Given the description of an element on the screen output the (x, y) to click on. 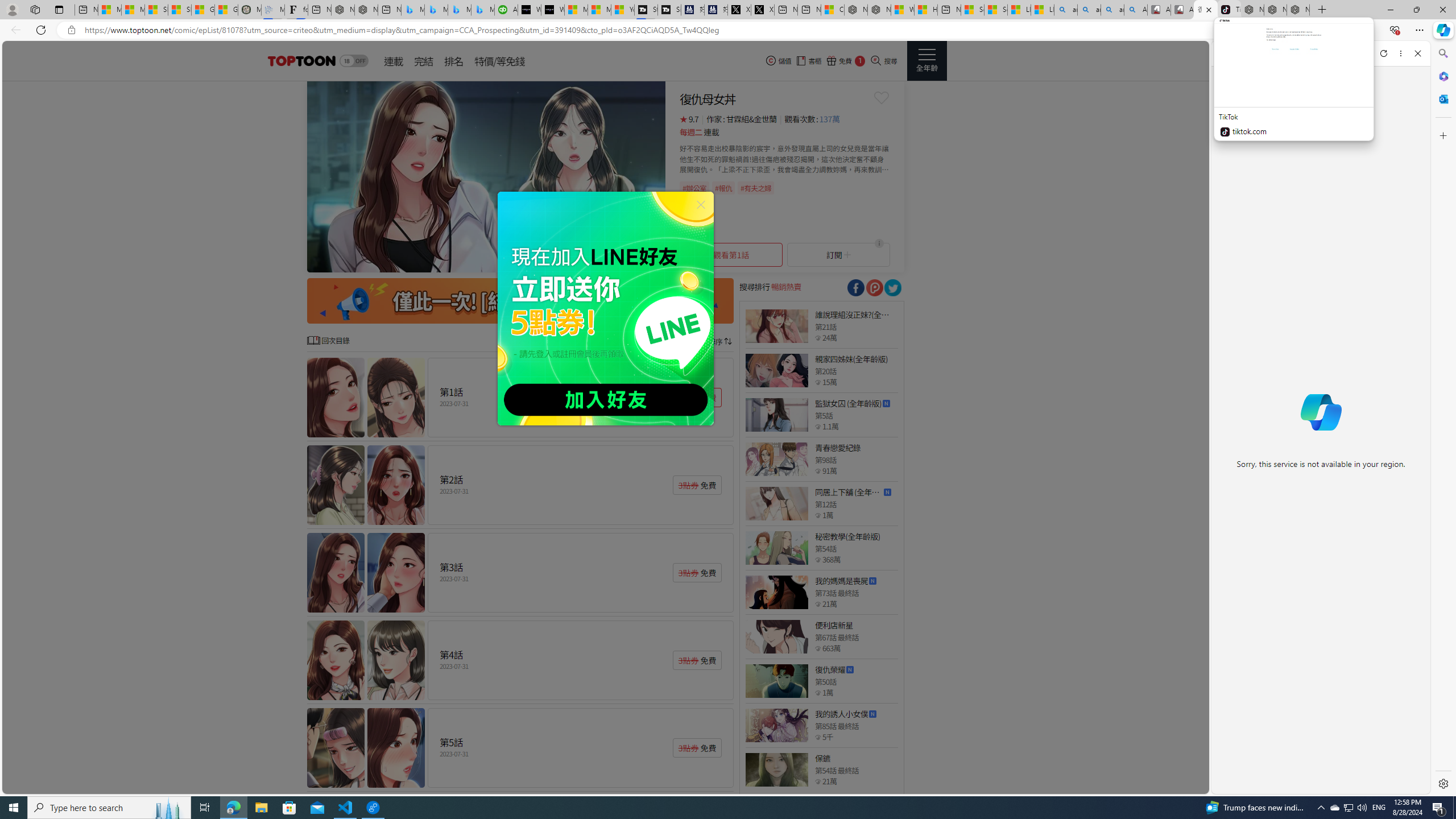
Microsoft Bing Travel - Stays in Bangkok, Bangkok, Thailand (435, 9)
Class: epicon_starpoint (818, 781)
